Given the description of an element on the screen output the (x, y) to click on. 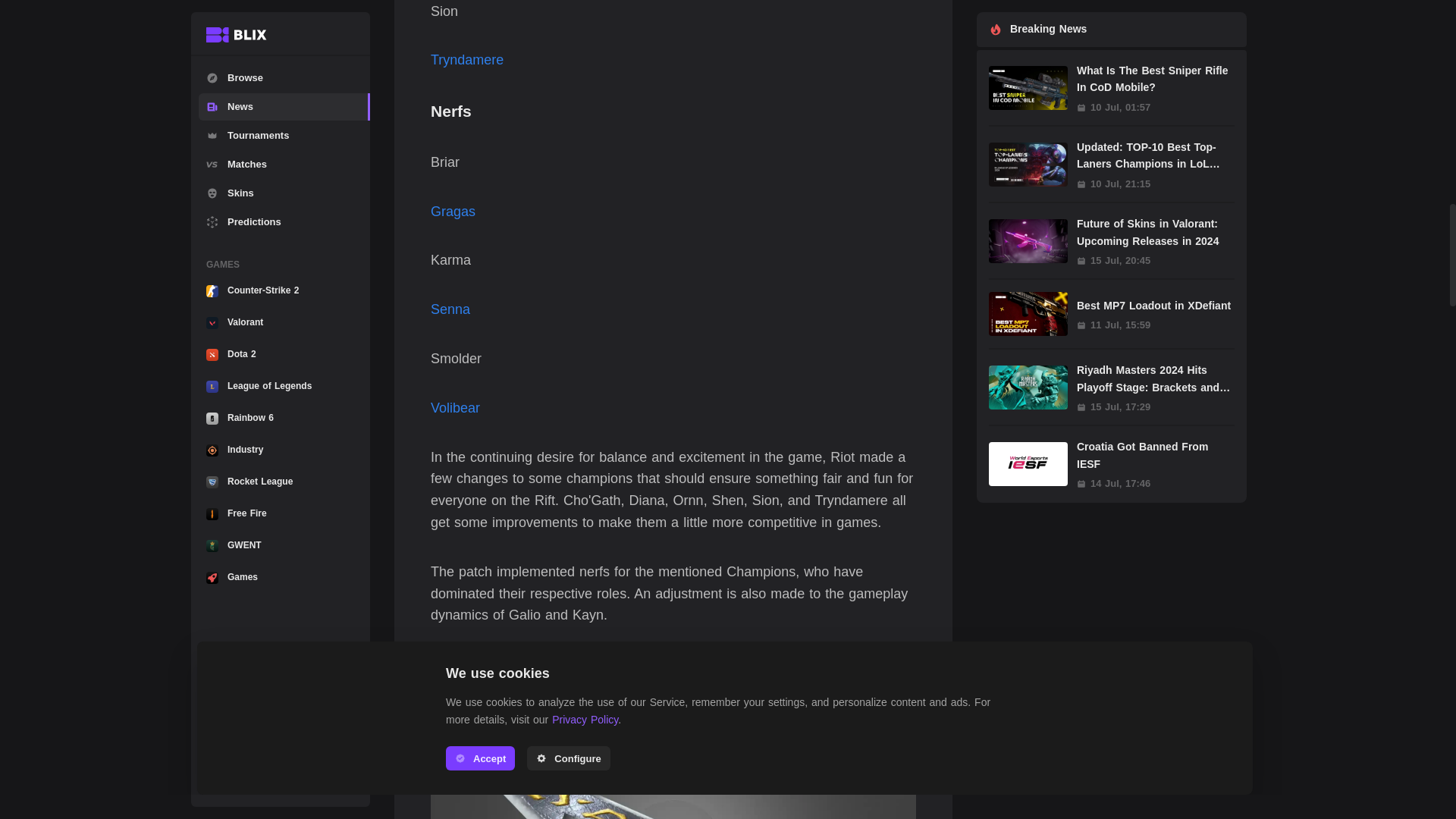
Volibear (455, 407)
Senna (450, 309)
Tryndamere (466, 59)
Gragas (453, 211)
